Given the description of an element on the screen output the (x, y) to click on. 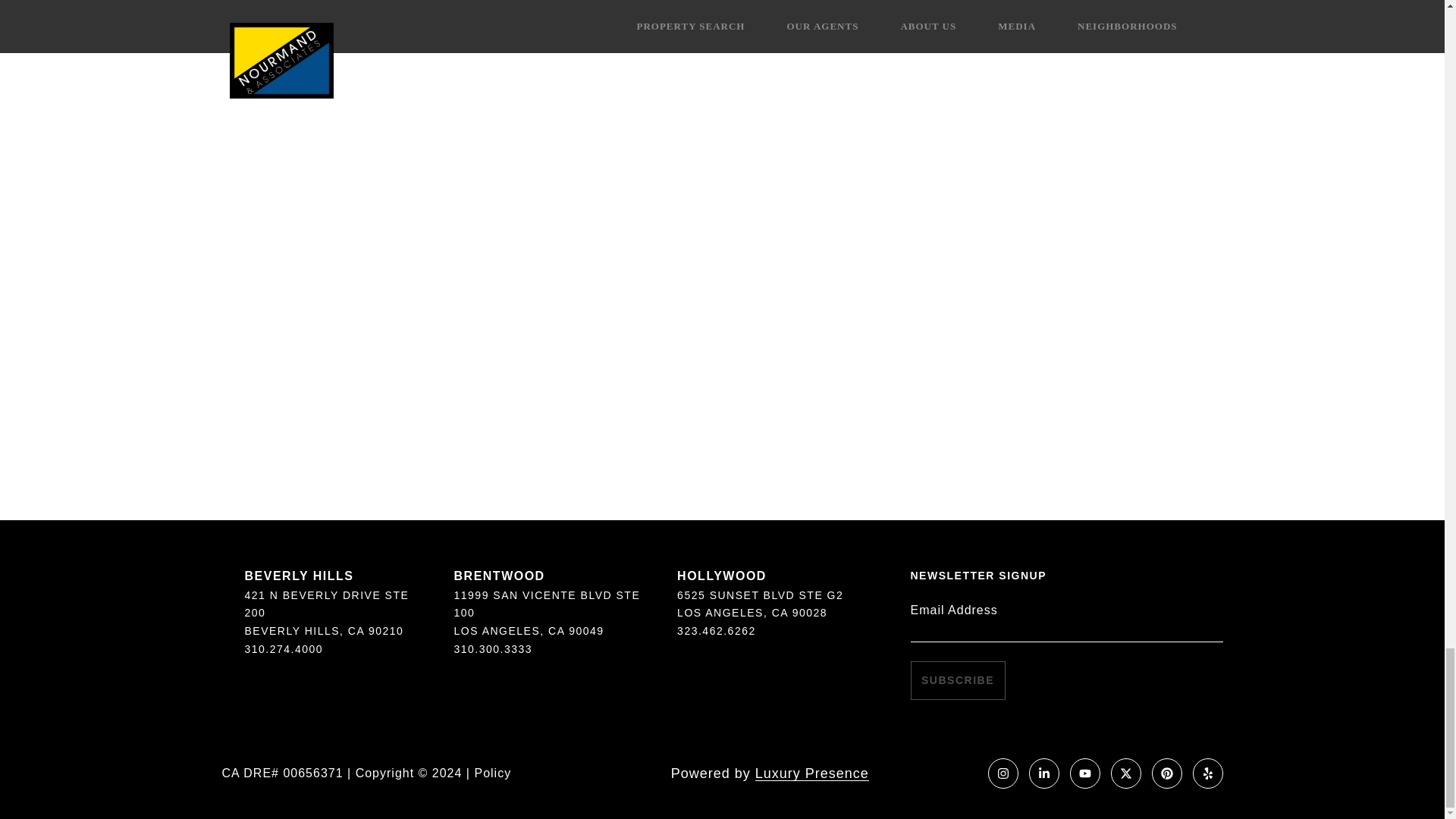
SUBSCRIBE (957, 680)
